Given the description of an element on the screen output the (x, y) to click on. 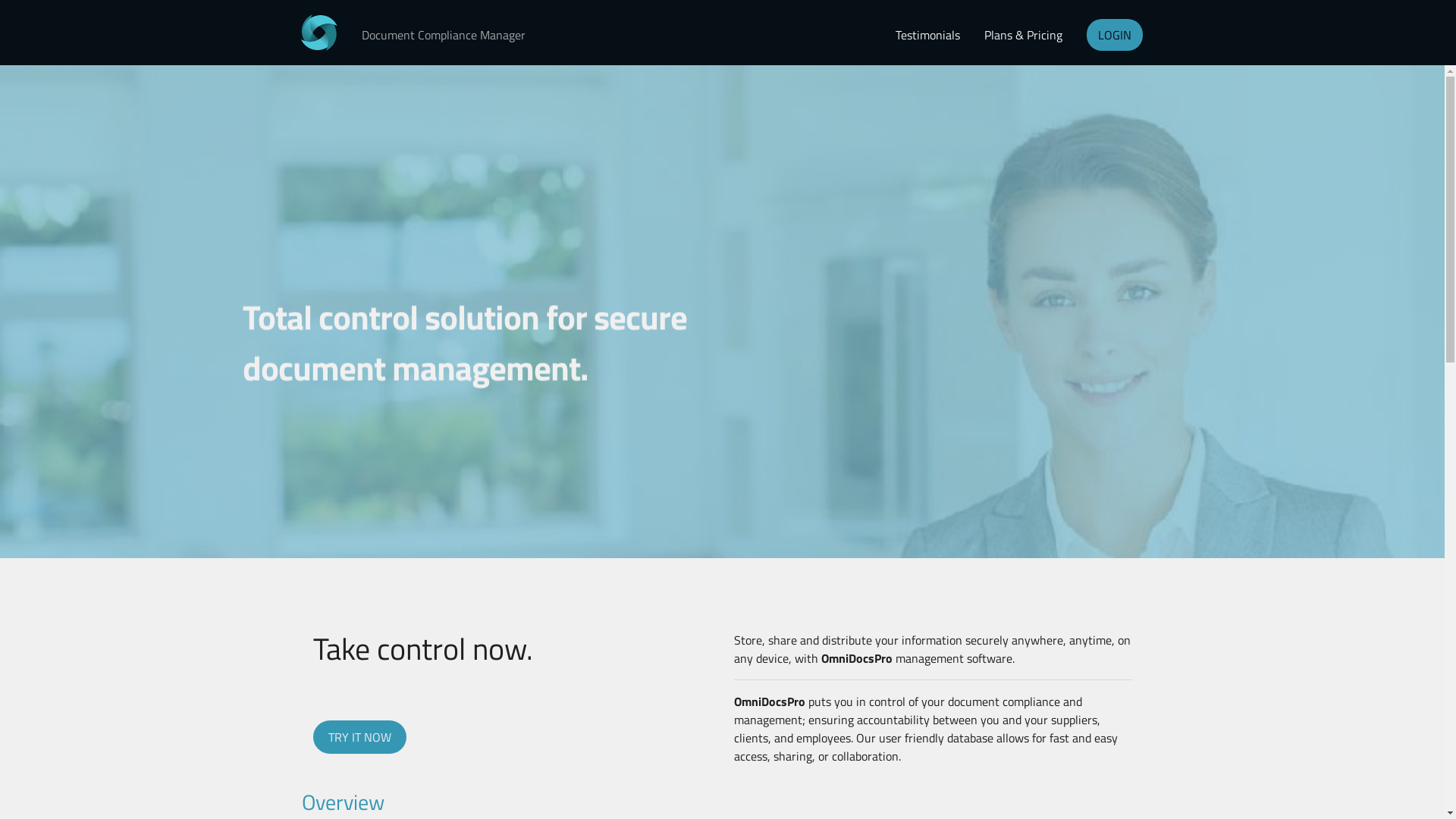
LOGIN Element type: text (1114, 34)
Testimonials Element type: text (927, 34)
Plans & Pricing Element type: text (1023, 34)
TRY IT NOW Element type: text (358, 736)
